Given the description of an element on the screen output the (x, y) to click on. 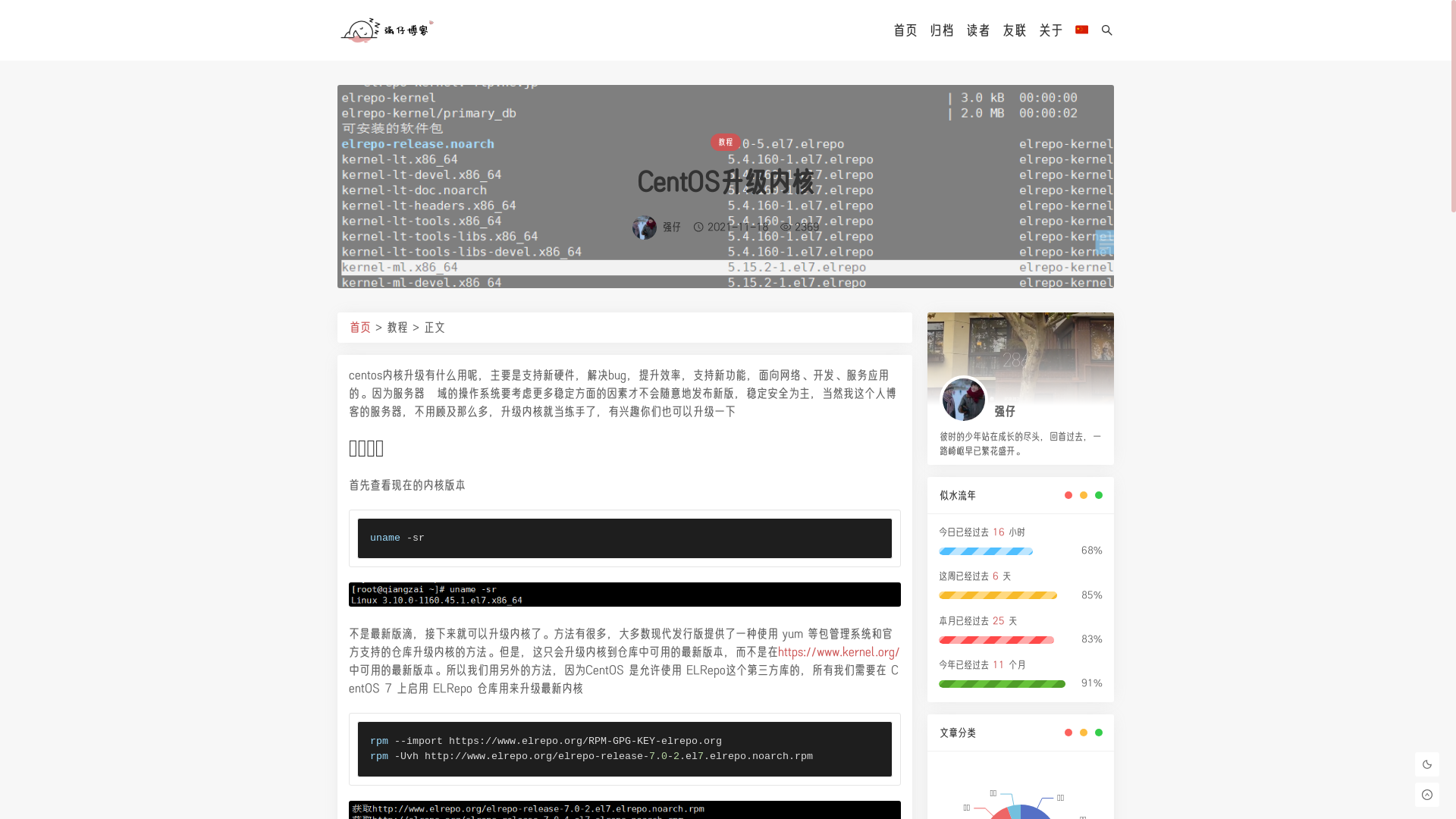
1 Element type: hover (624, 594)
https://www.kernel.org/ Element type: text (839, 651)
